Given the description of an element on the screen output the (x, y) to click on. 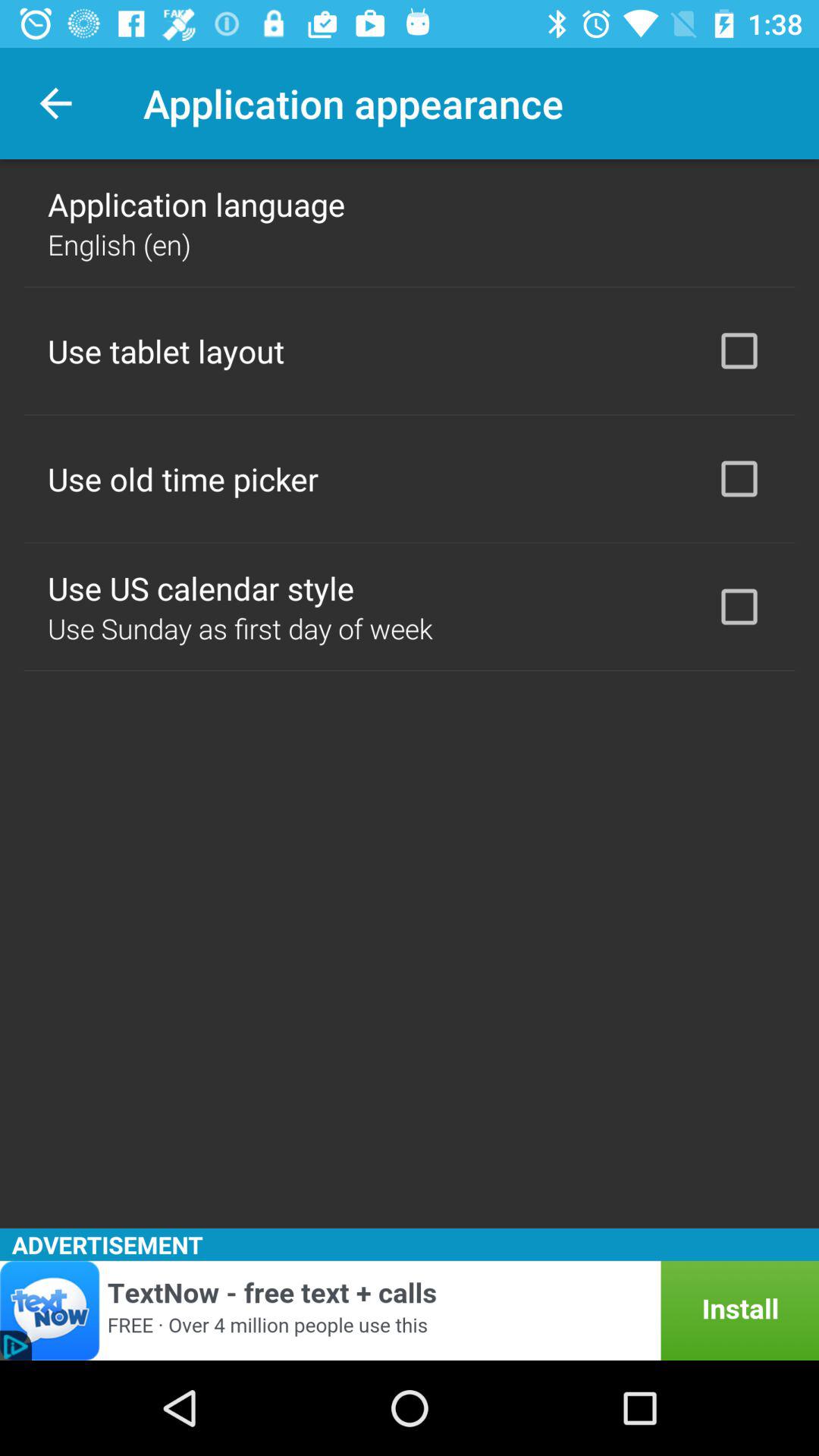
tap item to the left of application appearance (55, 103)
